Given the description of an element on the screen output the (x, y) to click on. 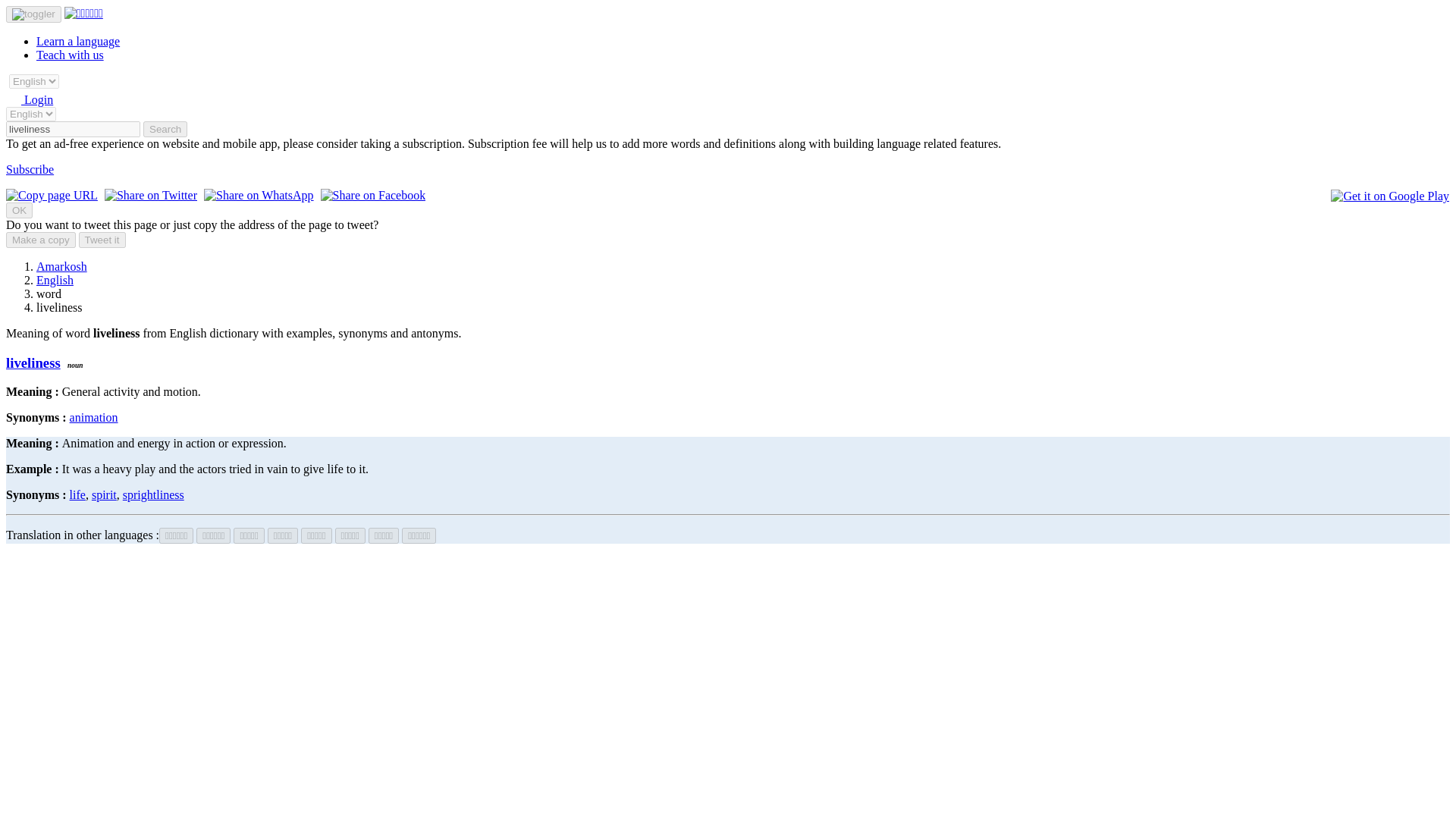
Search (164, 129)
liveliness (33, 362)
Learn a language (77, 41)
Login (28, 99)
toggler (33, 14)
Share on Facebook (373, 195)
sprightliness (153, 494)
Subscribe (29, 169)
liveliness (72, 129)
spirit (103, 494)
